Given the description of an element on the screen output the (x, y) to click on. 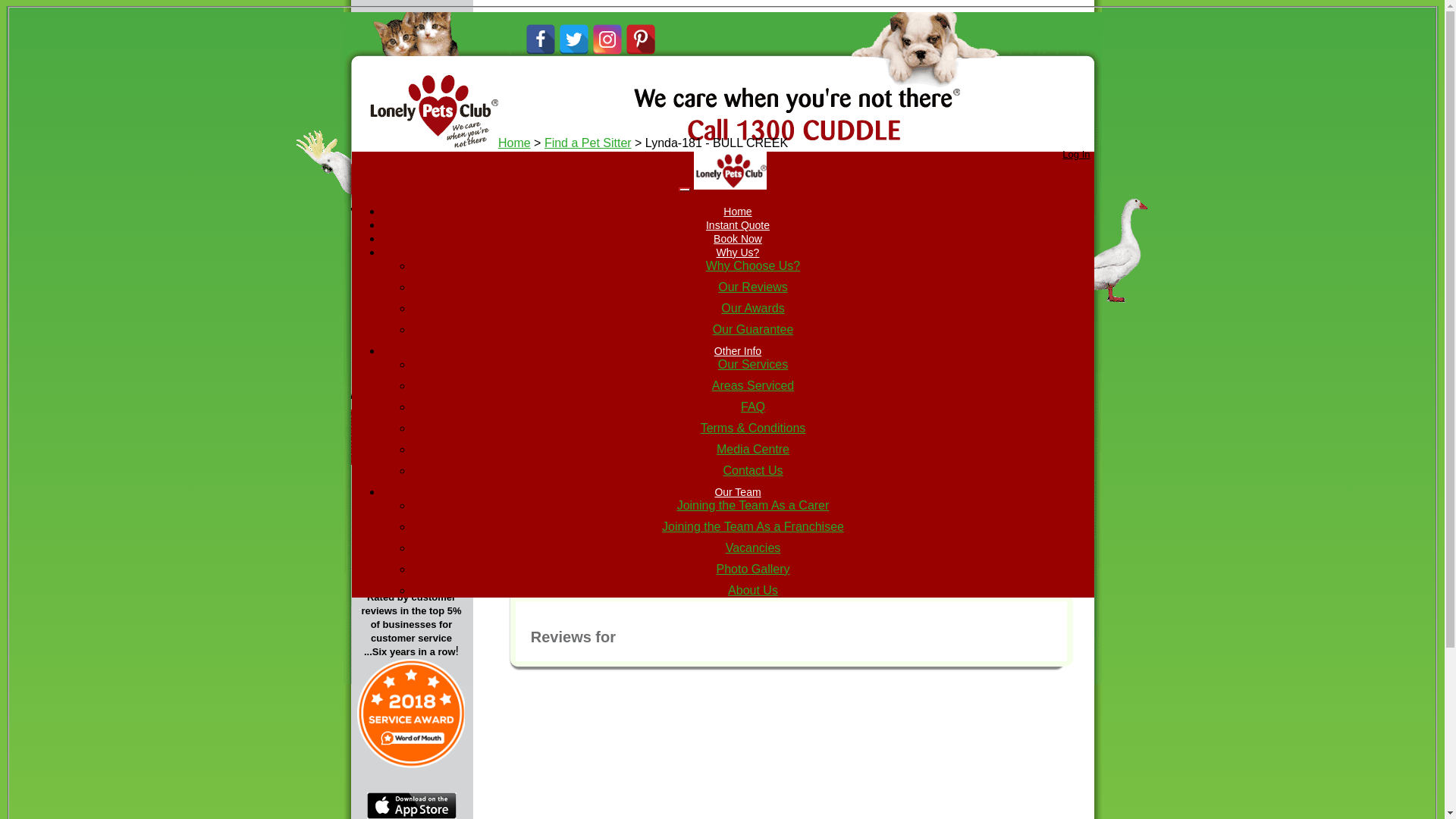
Contact Us Element type: text (752, 470)
Our Team Element type: text (737, 492)
Why Choose Us? Element type: text (753, 265)
Joining the Team As a Carer Element type: text (753, 504)
Vacancies Element type: text (753, 547)
Pinterest Element type: hover (639, 30)
  Our Awards Element type: text (426, 361)
Find a Pet Sitter Element type: text (587, 142)
Pet Sitters Element type: text (429, 301)
Why Us? Element type: text (737, 252)
Click here to find another sitter Element type: text (924, 332)
Our Awards Element type: text (752, 307)
Areas Serviced Element type: text (753, 385)
Subscribe Element type: text (422, 418)
Facebook Element type: hover (539, 30)
Joining the Team As a Franchisee Element type: text (753, 526)
Why Choose Us? Element type: text (422, 248)
FAQ Element type: text (752, 406)
Our Reviews Element type: text (752, 286)
Click here to find another sitter Element type: text (842, 250)
Twitter Element type: hover (573, 30)
Our Services Element type: text (752, 363)
Photo Gallery Element type: text (753, 568)
Media Centre Element type: text (752, 448)
Log In Element type: text (1075, 154)
Book Now Element type: text (737, 238)
Instagram Element type: hover (606, 30)
Home Element type: text (737, 211)
Other Info Element type: text (737, 351)
Our Guarantee Element type: text (752, 329)
Instant Quote Element type: text (737, 225)
About Us Element type: text (753, 589)
Home Element type: text (514, 142)
Terms & Conditions Element type: text (753, 427)
Our Blog Element type: text (411, 470)
